Given the description of an element on the screen output the (x, y) to click on. 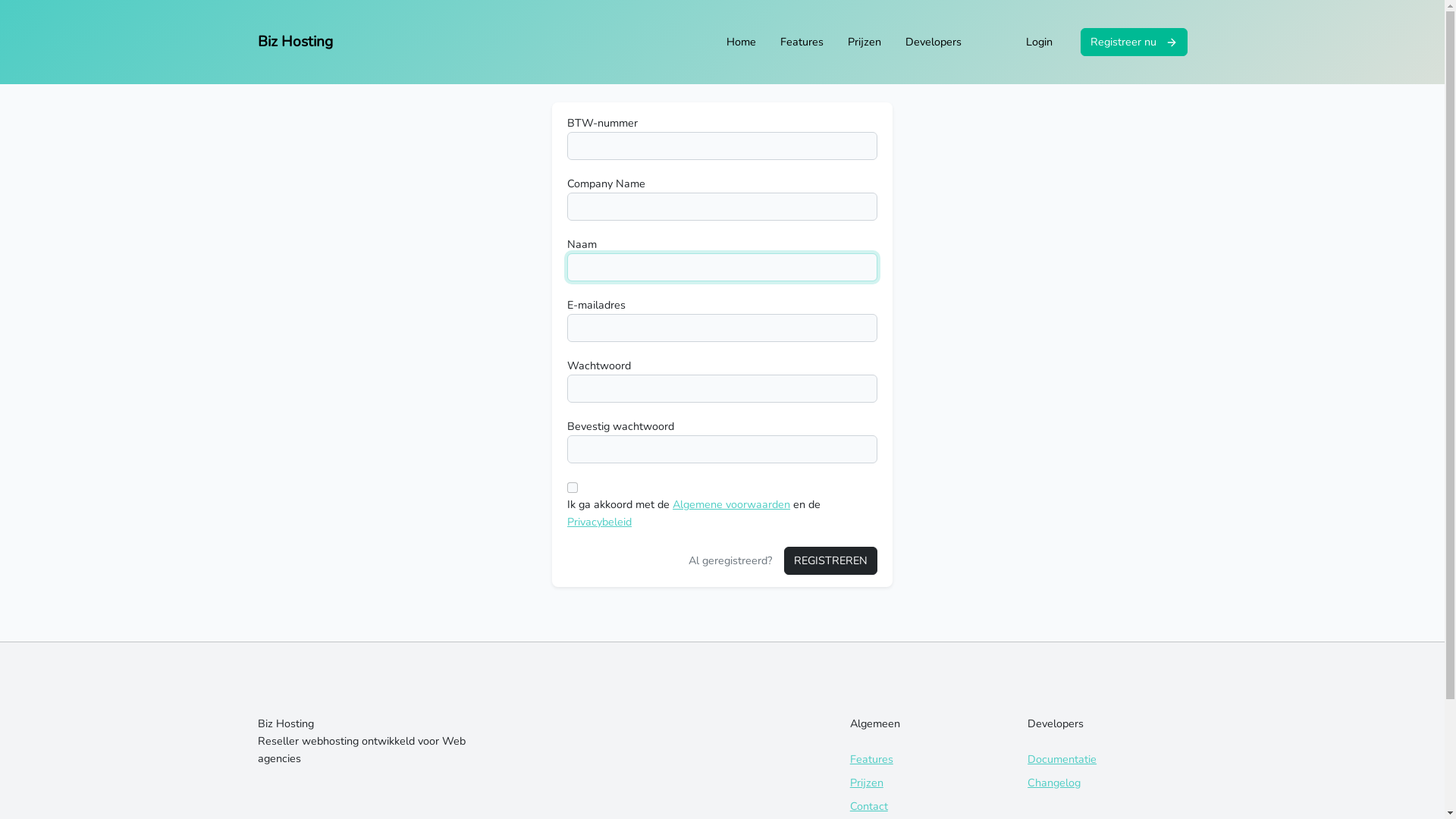
Developers Element type: text (933, 41)
Features Element type: text (800, 41)
REGISTREREN Element type: text (830, 560)
Al geregistreerd? Element type: text (729, 560)
Privacybeleid Element type: text (599, 521)
Home Element type: text (741, 41)
Prijzen Element type: text (866, 782)
Prijzen Element type: text (864, 41)
Registreer nu Element type: text (1132, 42)
Changelog Element type: text (1053, 782)
Features Element type: text (871, 758)
Contact Element type: text (869, 805)
Documentatie Element type: text (1061, 758)
Algemene voorwaarden Element type: text (731, 503)
Login Element type: text (1039, 42)
Biz Hosting Element type: text (294, 41)
